Given the description of an element on the screen output the (x, y) to click on. 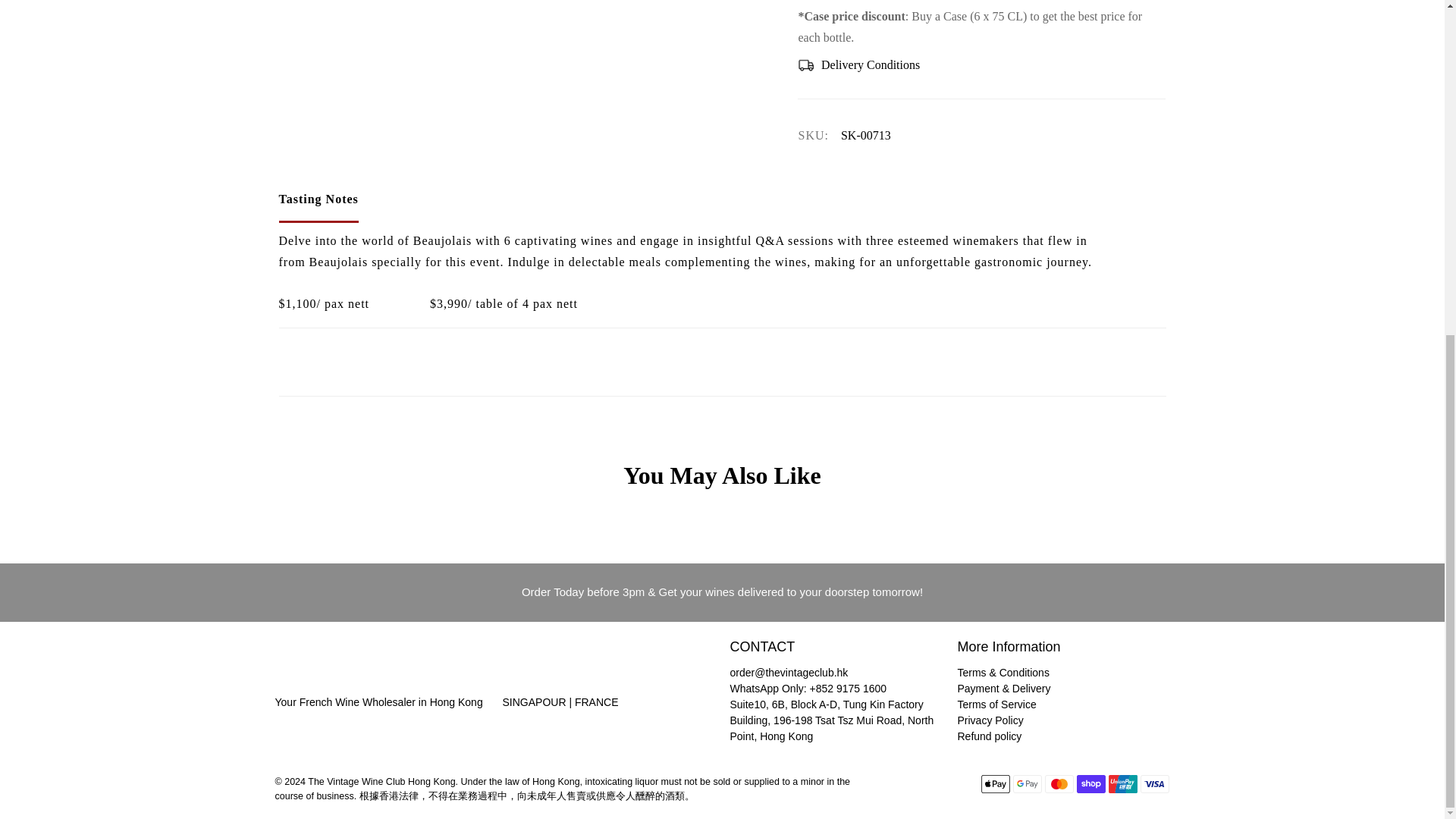
Visa (1154, 783)
Apple Pay (995, 783)
Google Pay (1027, 783)
The Vintage Wine Club Hong Kong (565, 665)
Mastercard (1059, 783)
Union Pay (1122, 783)
Shop Pay (1091, 783)
The Vintage Wine Club Hong Kong (338, 665)
